Given the description of an element on the screen output the (x, y) to click on. 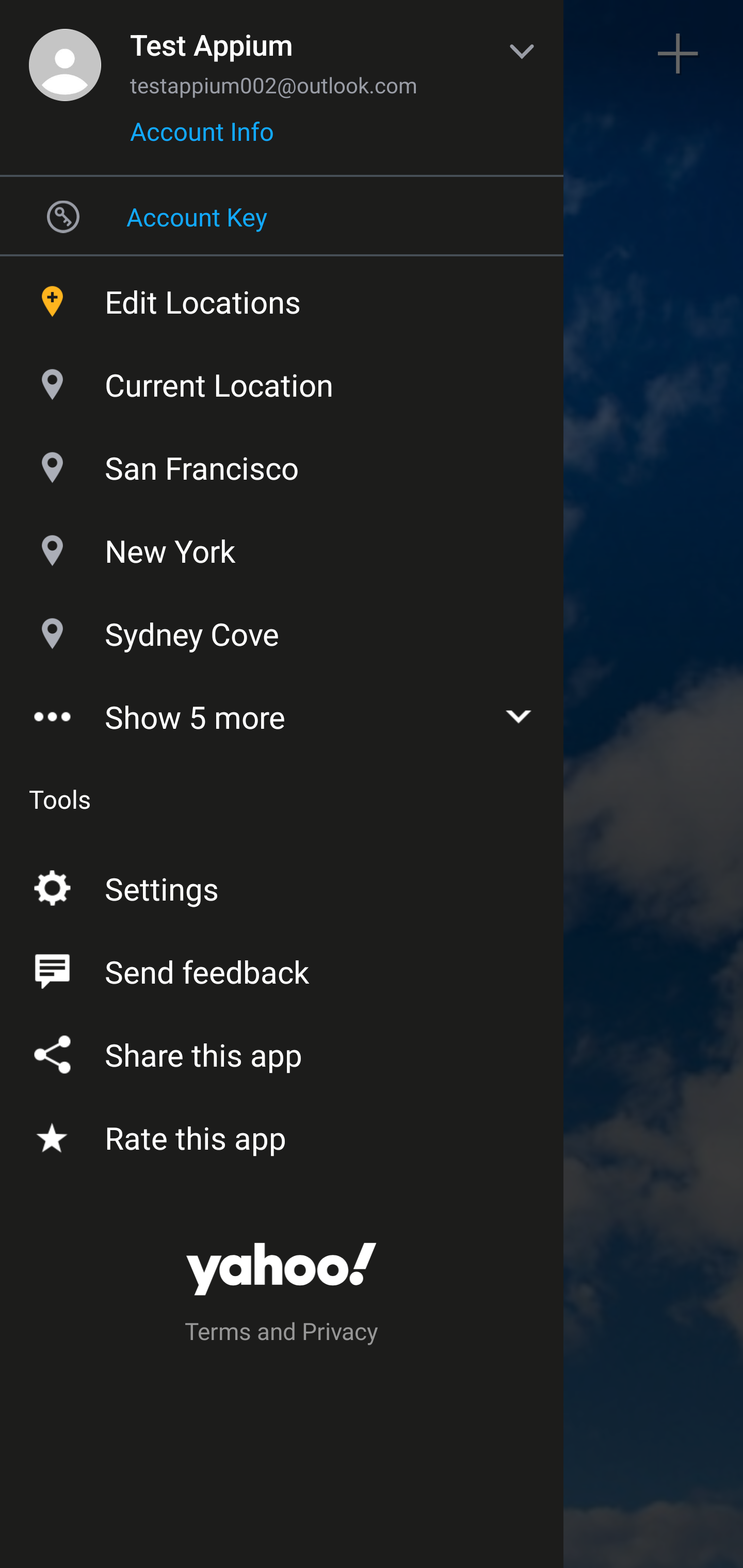
Sidebar (64, 54)
Account Info (202, 137)
Account Key (281, 216)
Edit Locations (281, 296)
Current Location (281, 379)
San Francisco (281, 462)
New York (281, 546)
Sydney Cove (281, 629)
Settings (281, 884)
Send feedback (281, 967)
Share this app (281, 1050)
Terms and Privacy Terms and privacy button (281, 1334)
